Given the description of an element on the screen output the (x, y) to click on. 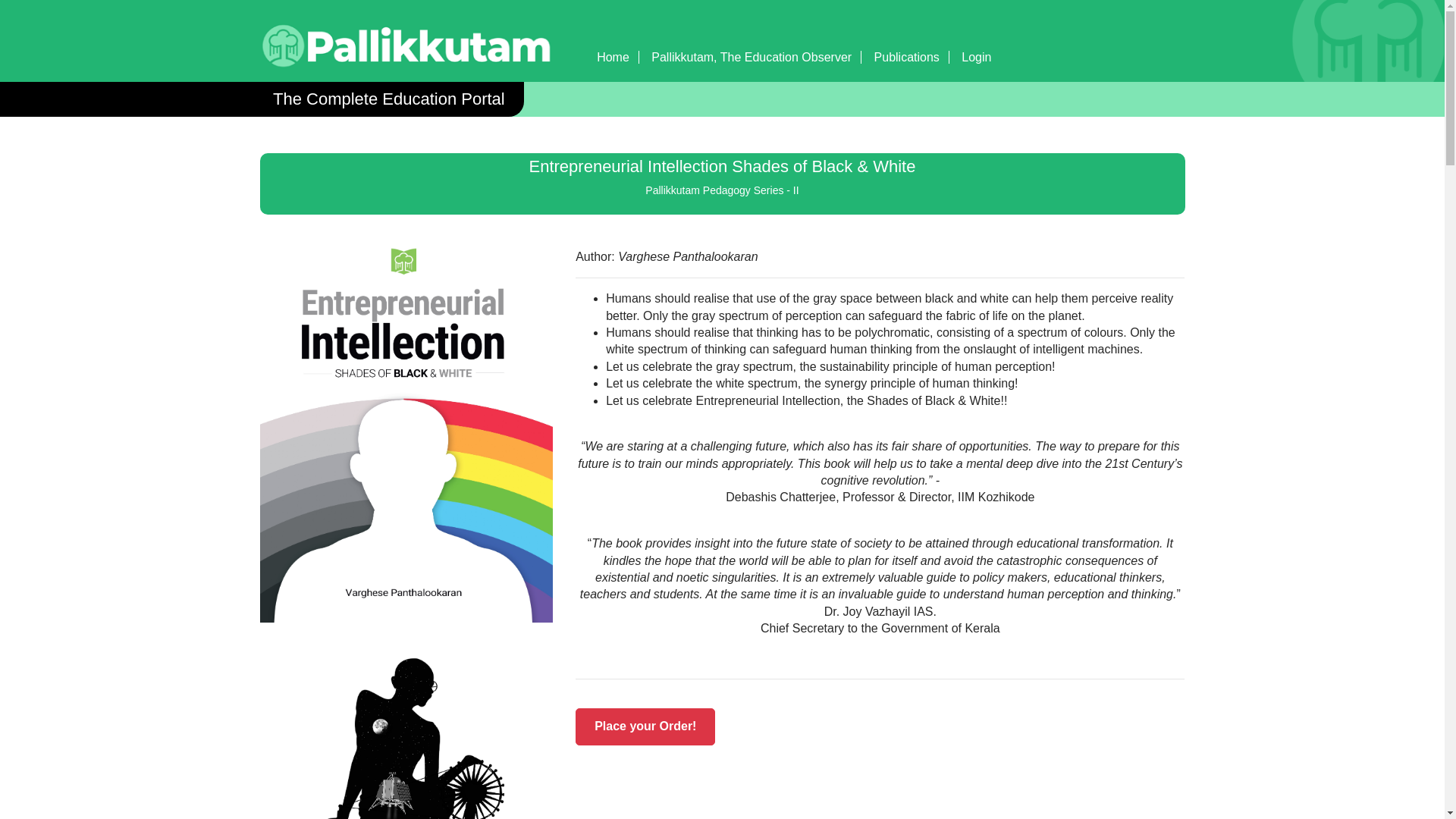
Publications (907, 56)
Pallikkutam, The Education Observer (750, 56)
Login (975, 56)
Place your Order! (644, 726)
Home (612, 56)
